Given the description of an element on the screen output the (x, y) to click on. 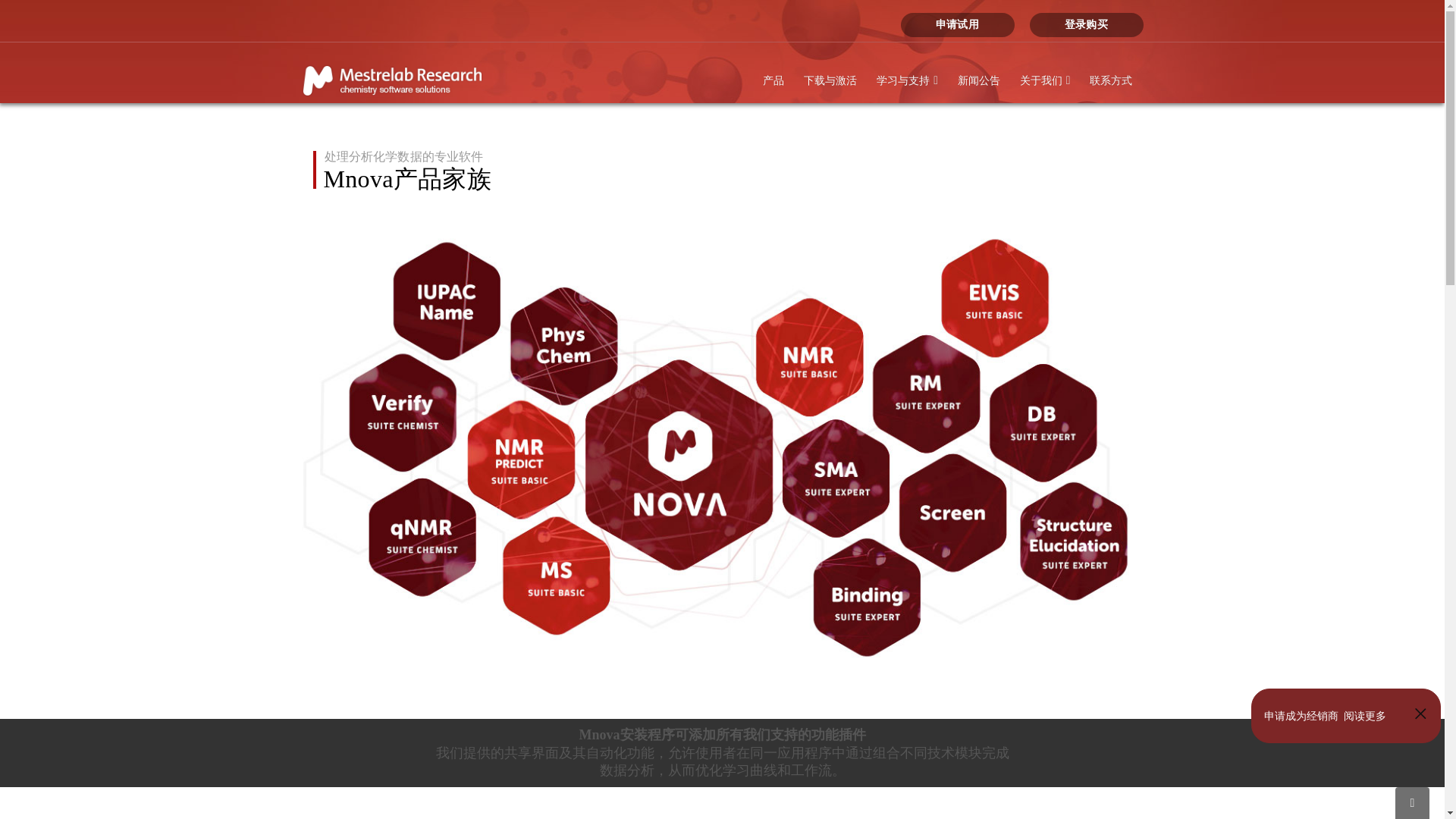
Mestrelab - Chemistry Software for NMR and LC GC MS (396, 80)
